Given the description of an element on the screen output the (x, y) to click on. 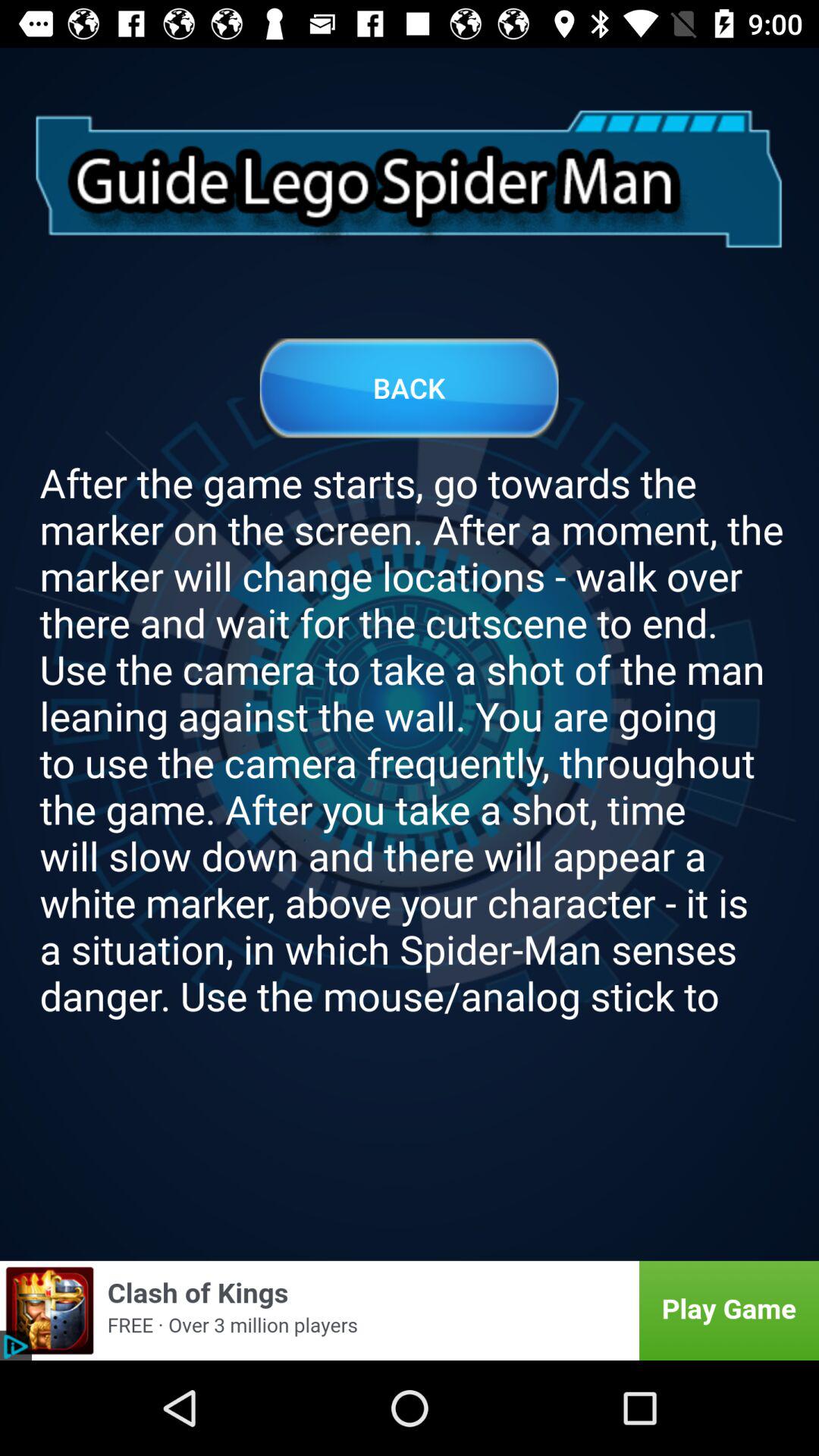
this is an interactive advertisement (409, 1310)
